Given the description of an element on the screen output the (x, y) to click on. 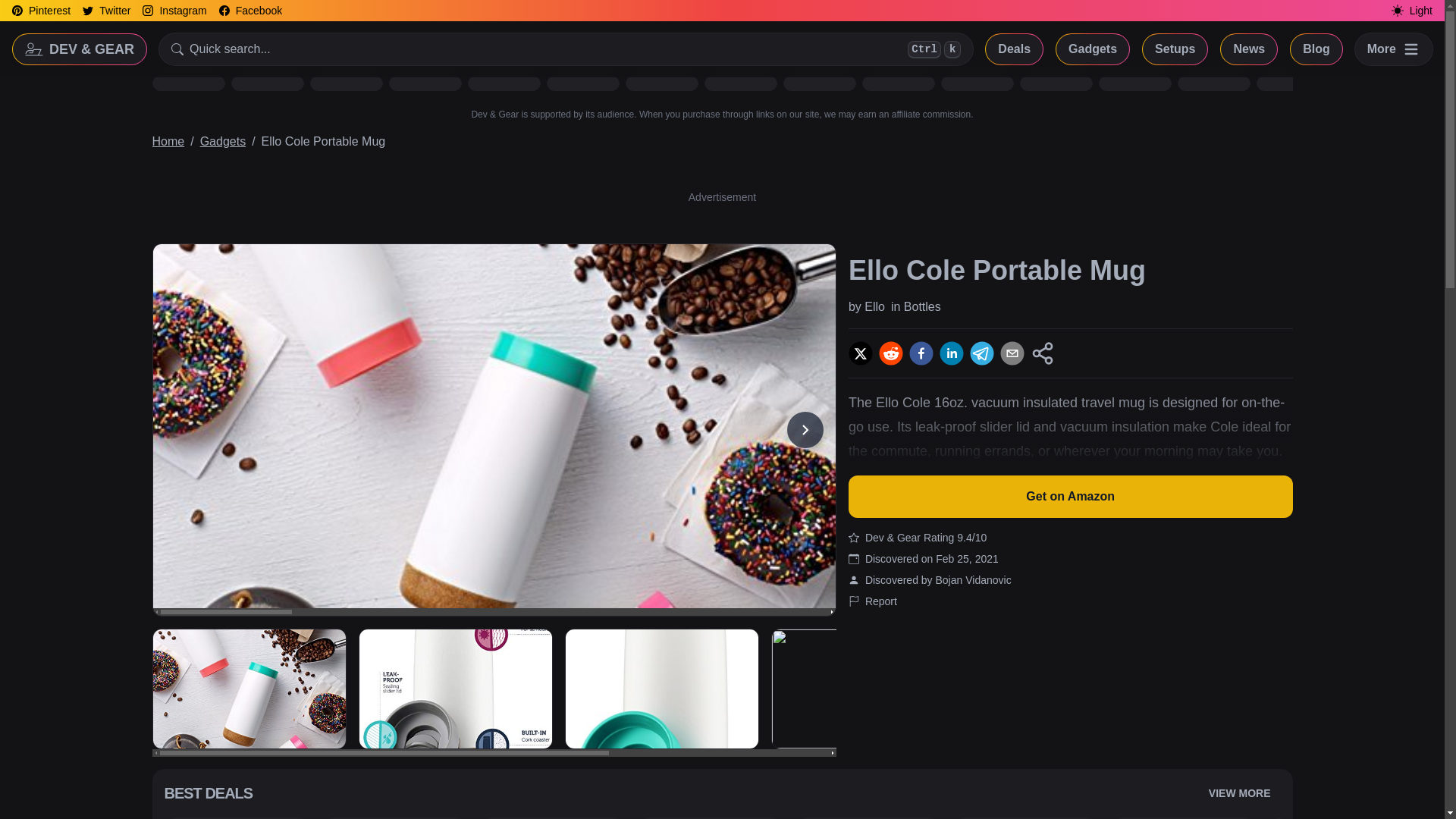
Ello (874, 306)
Setups (1174, 49)
Bottles (922, 306)
News (1248, 49)
Deals (1013, 49)
Pinterest (40, 10)
Gadgets (223, 141)
Bojan Vidanovic (972, 580)
VIEW MORE (1239, 793)
Instagram (174, 10)
Twitter (106, 10)
Get on Amazon (1070, 496)
Facebook (250, 10)
More (1393, 49)
